Given the description of an element on the screen output the (x, y) to click on. 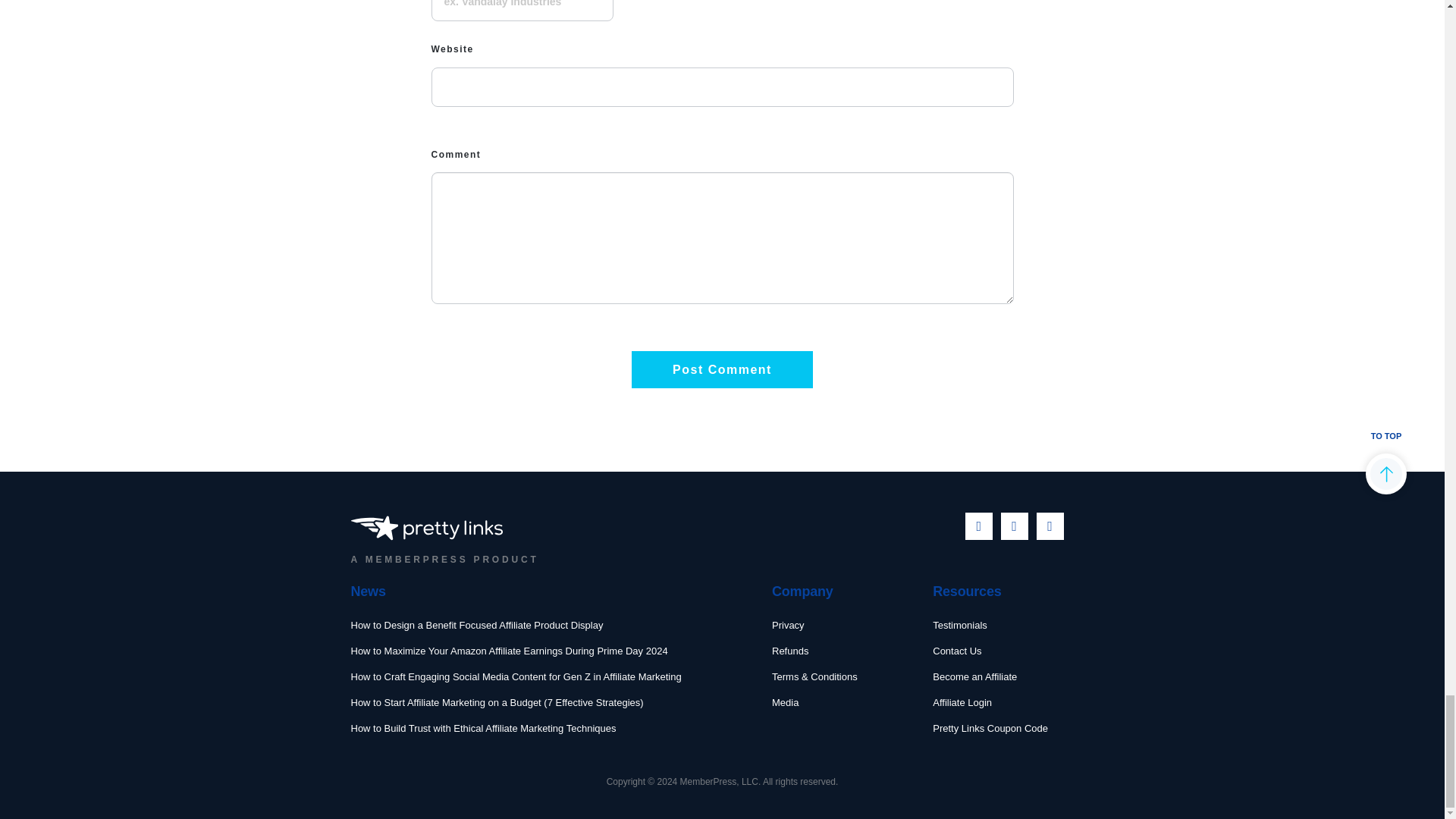
Post Comment (721, 369)
